Given the description of an element on the screen output the (x, y) to click on. 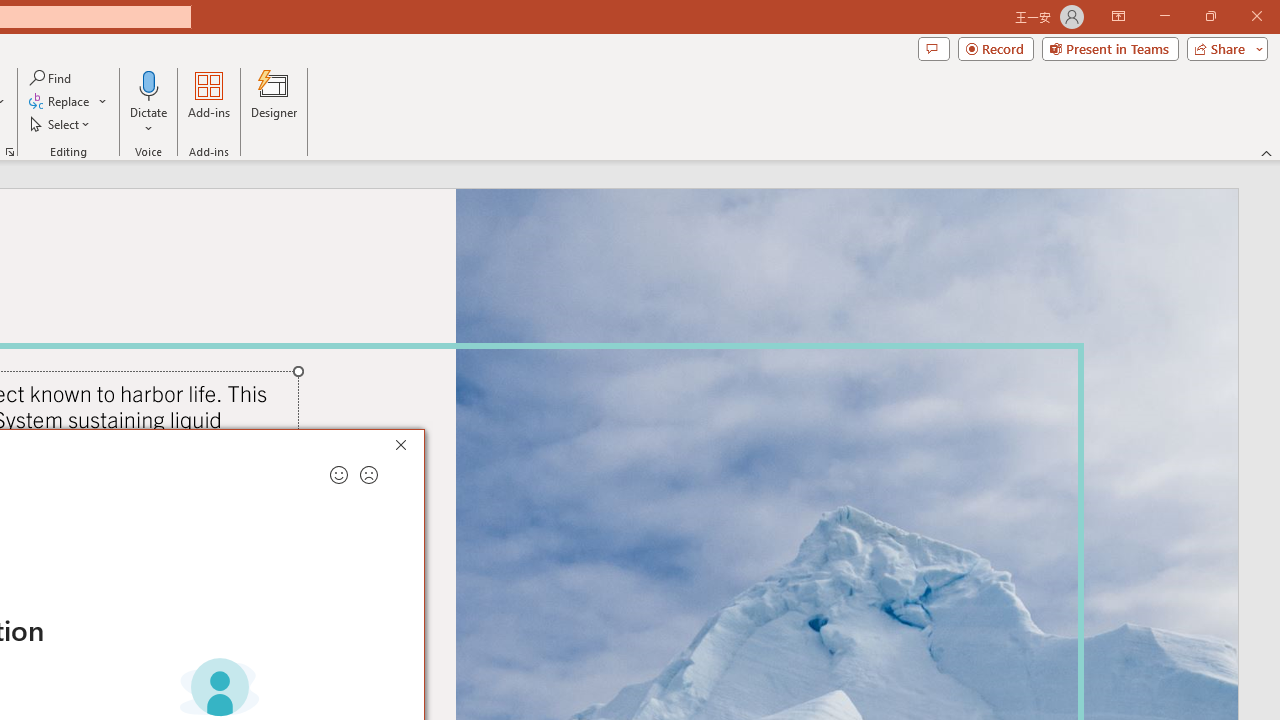
Send a smile for feedback (338, 475)
Send a frown for feedback (369, 475)
